Given the description of an element on the screen output the (x, y) to click on. 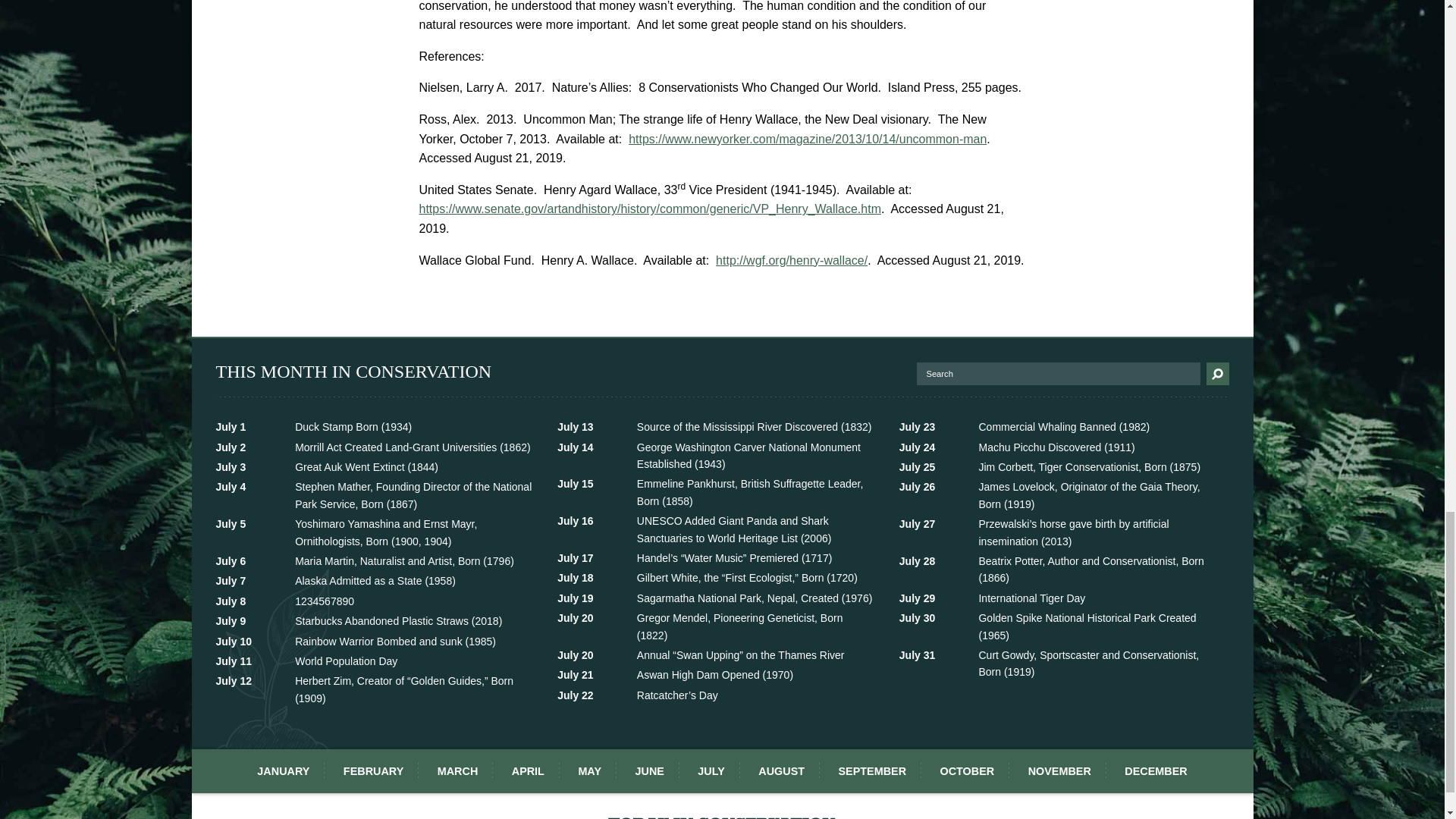
Search (379, 599)
